Given the description of an element on the screen output the (x, y) to click on. 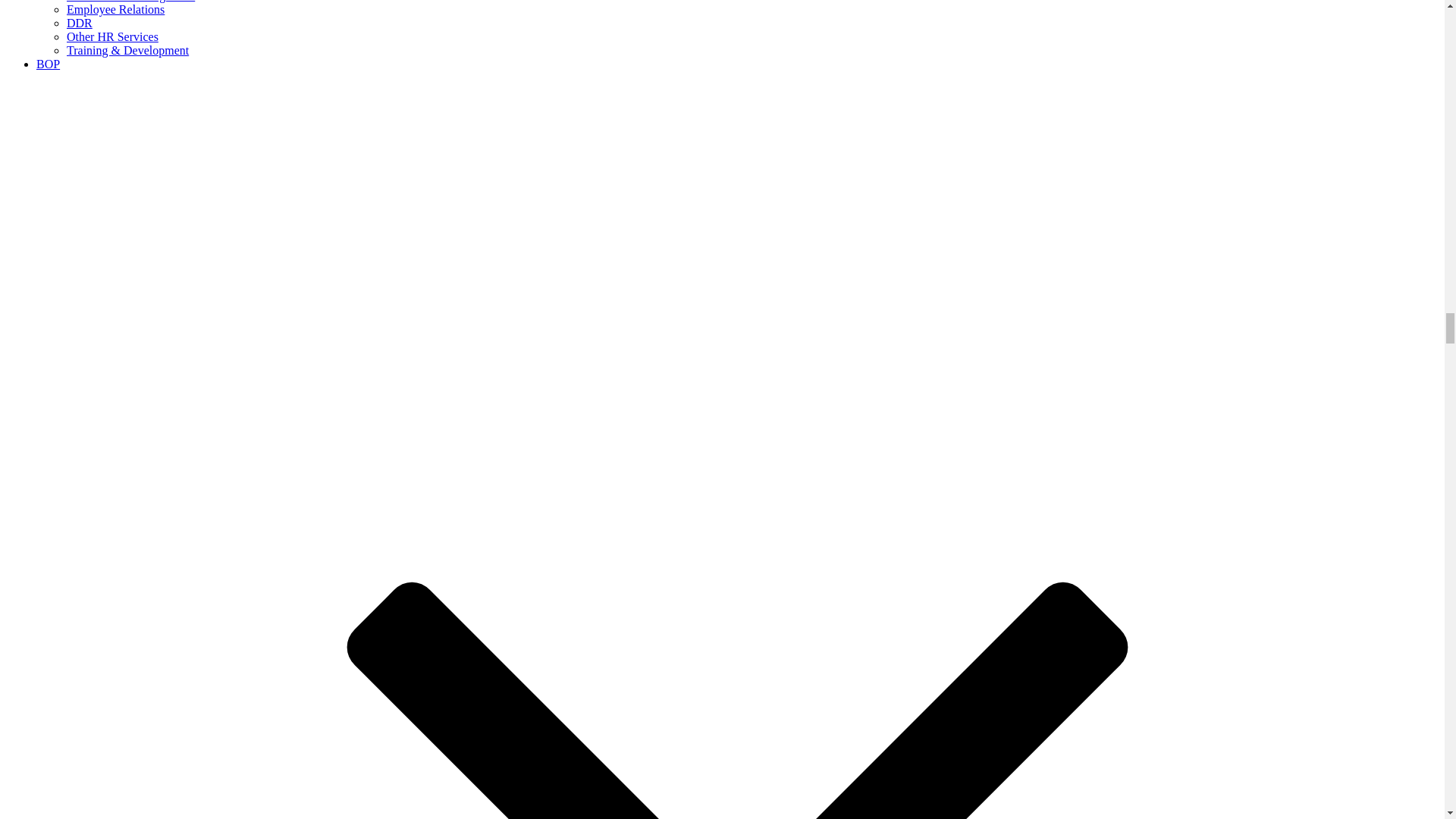
Performance Management (130, 1)
Employee Relations (115, 9)
Other HR Services (112, 36)
DDR (79, 22)
